Given the description of an element on the screen output the (x, y) to click on. 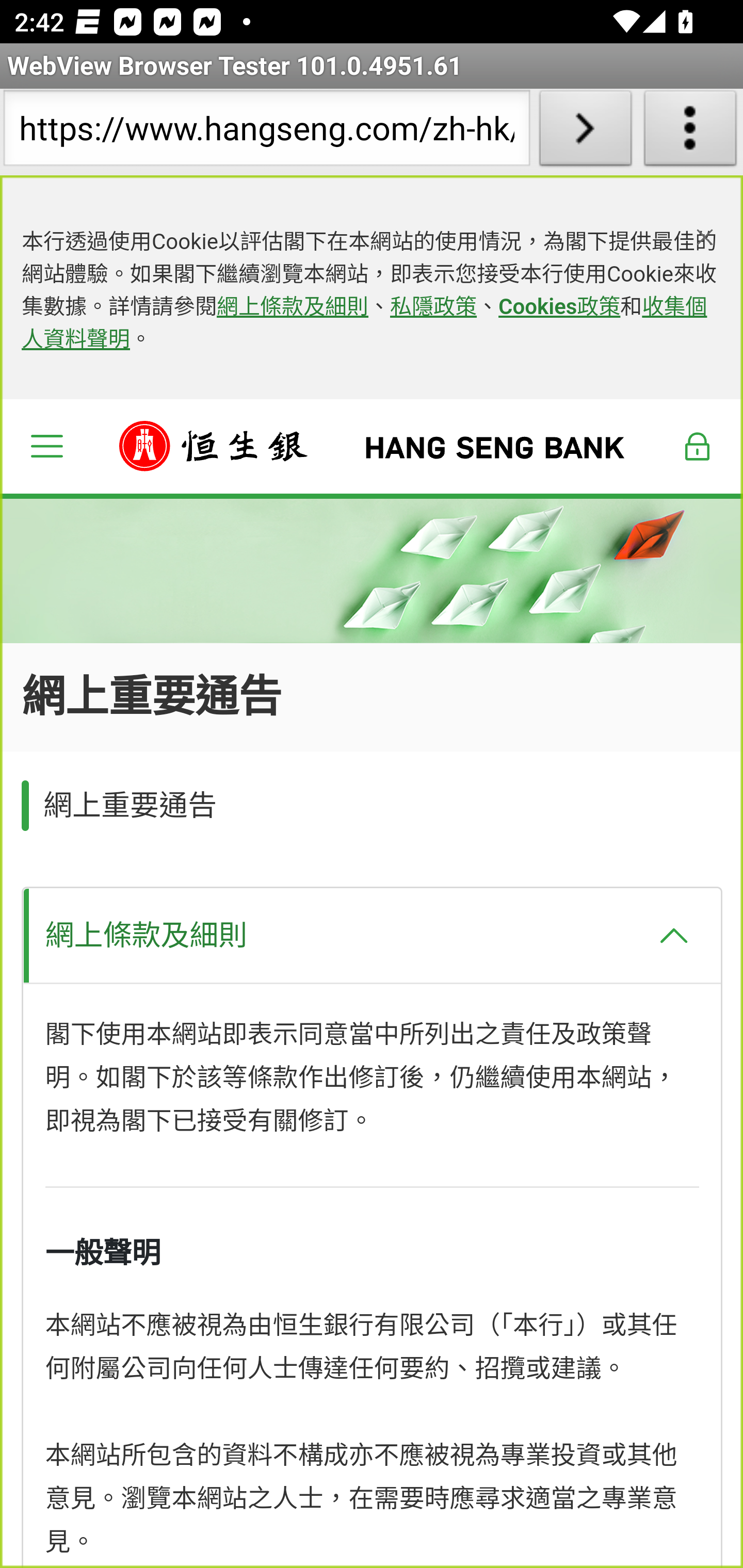
Load URL (585, 132)
About WebView (690, 132)
關閉 (704, 236)
收集個人資料聲明 (364, 324)
網上條款及細則 (293, 306)
私隱政策 (434, 306)
Cookies政策 (559, 306)
選單 (46, 445)
恒生銀行 (372, 445)
登入 (697, 445)
網上條款及細則 (371, 934)
